Given the description of an element on the screen output the (x, y) to click on. 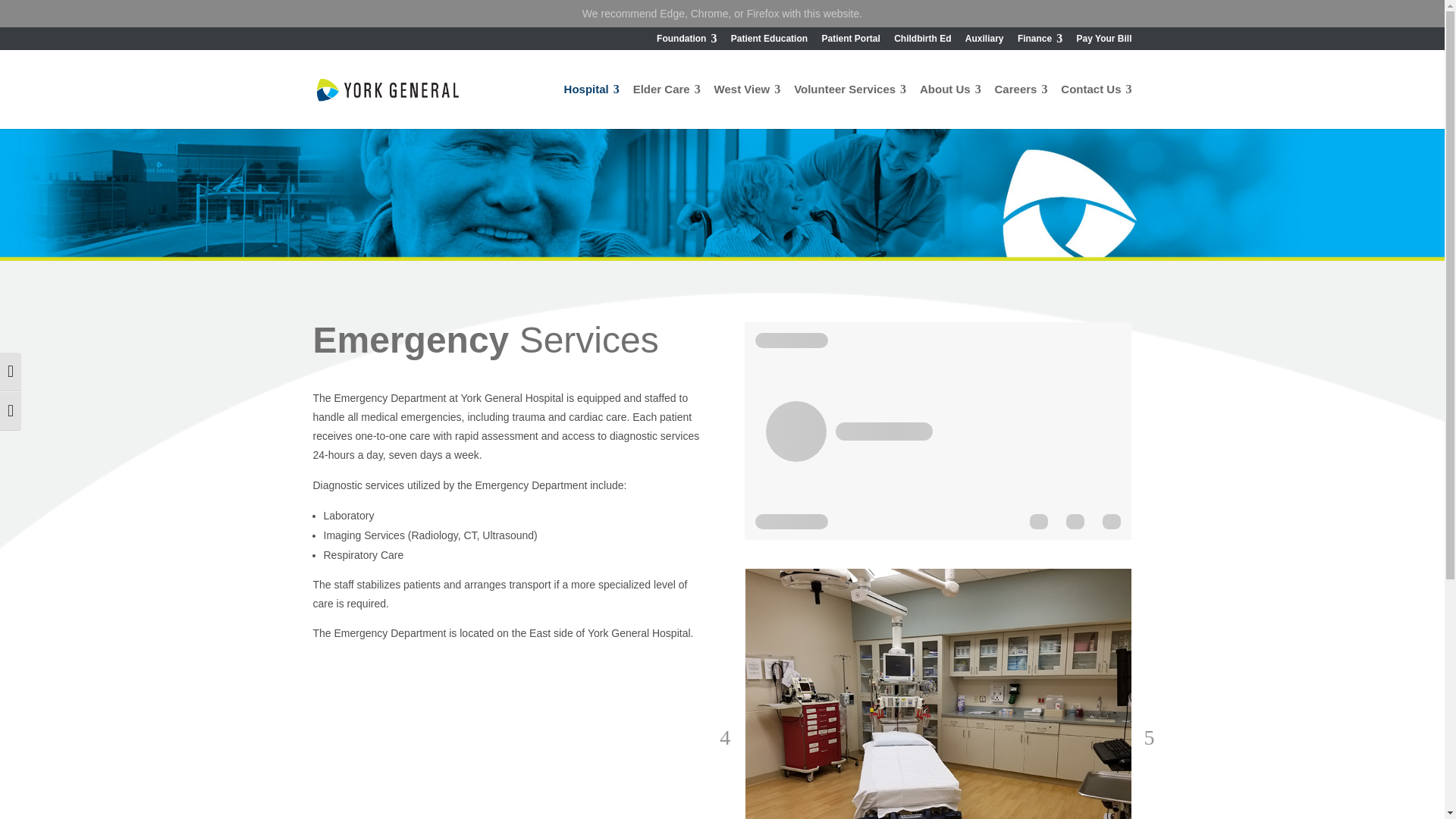
Foundation (686, 41)
Auxiliary (984, 41)
Patient Portal (850, 41)
Finance (1039, 41)
Pay Your Bill (1104, 41)
ViewMedica Video Player (937, 430)
Elder Care (666, 106)
Patient Education (769, 41)
Childbirth Ed (921, 41)
Hospital (592, 106)
